Given the description of an element on the screen output the (x, y) to click on. 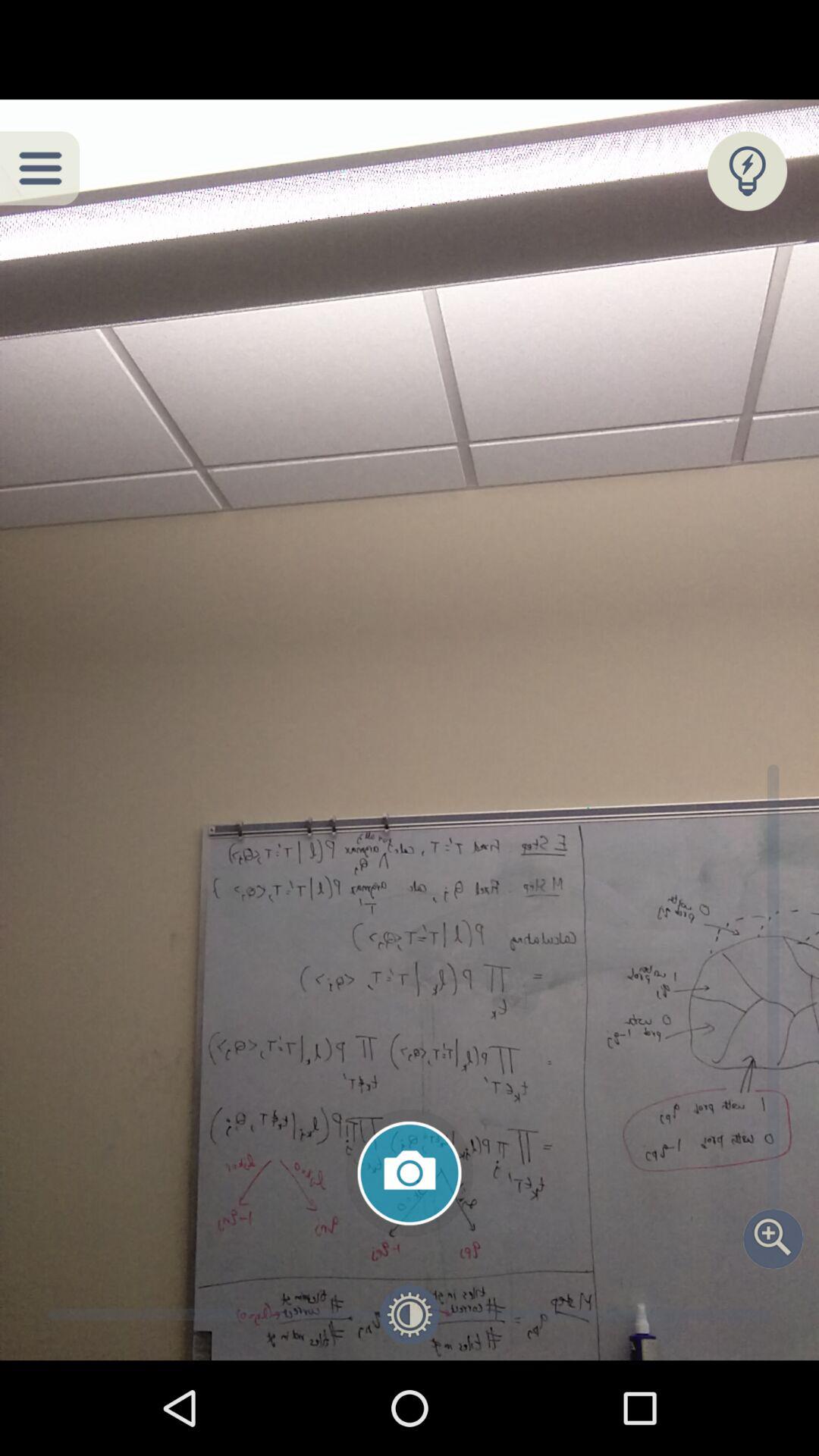
option/ details icon (39, 168)
